Given the description of an element on the screen output the (x, y) to click on. 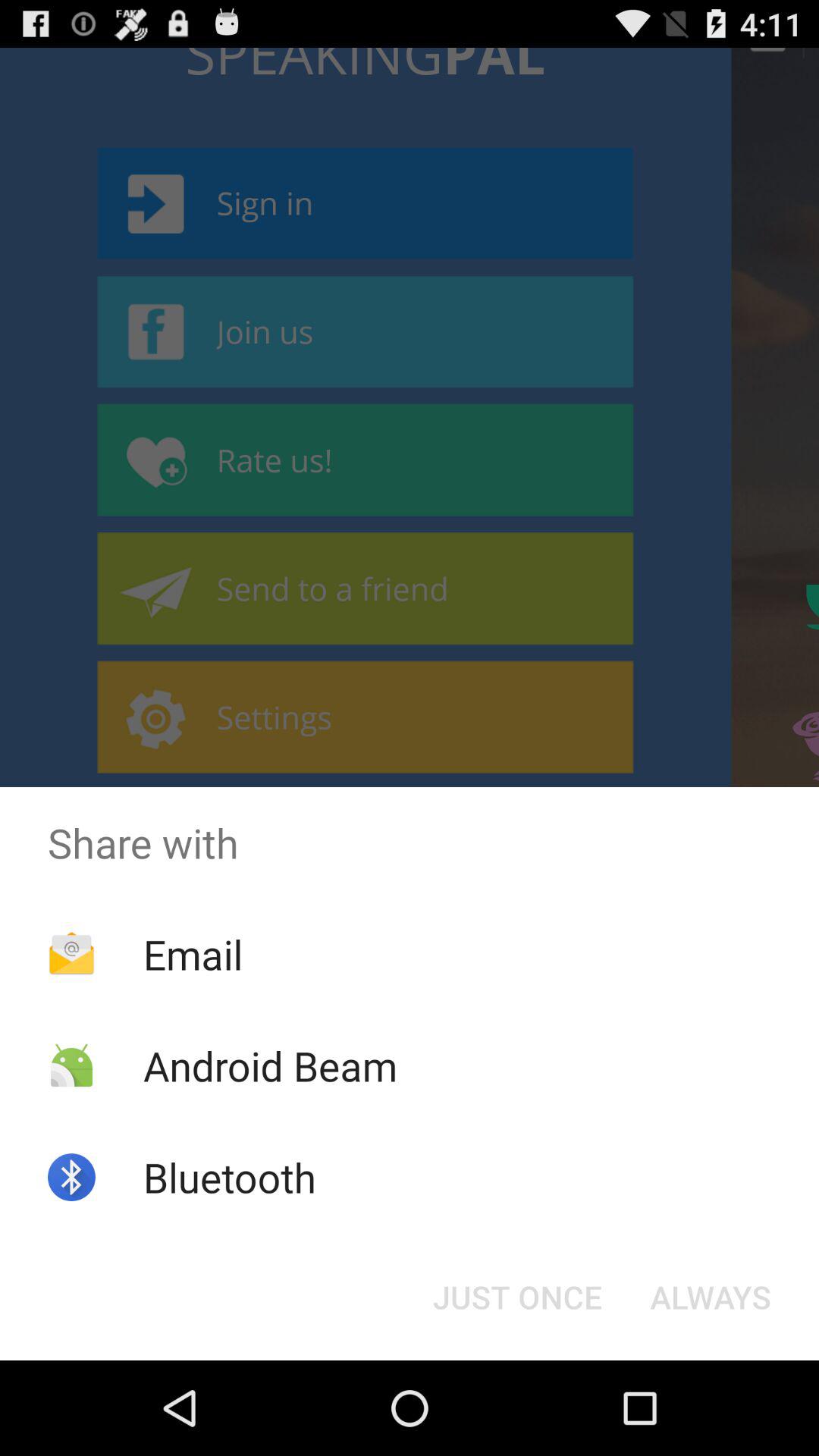
turn off the icon above the bluetooth (270, 1065)
